Given the description of an element on the screen output the (x, y) to click on. 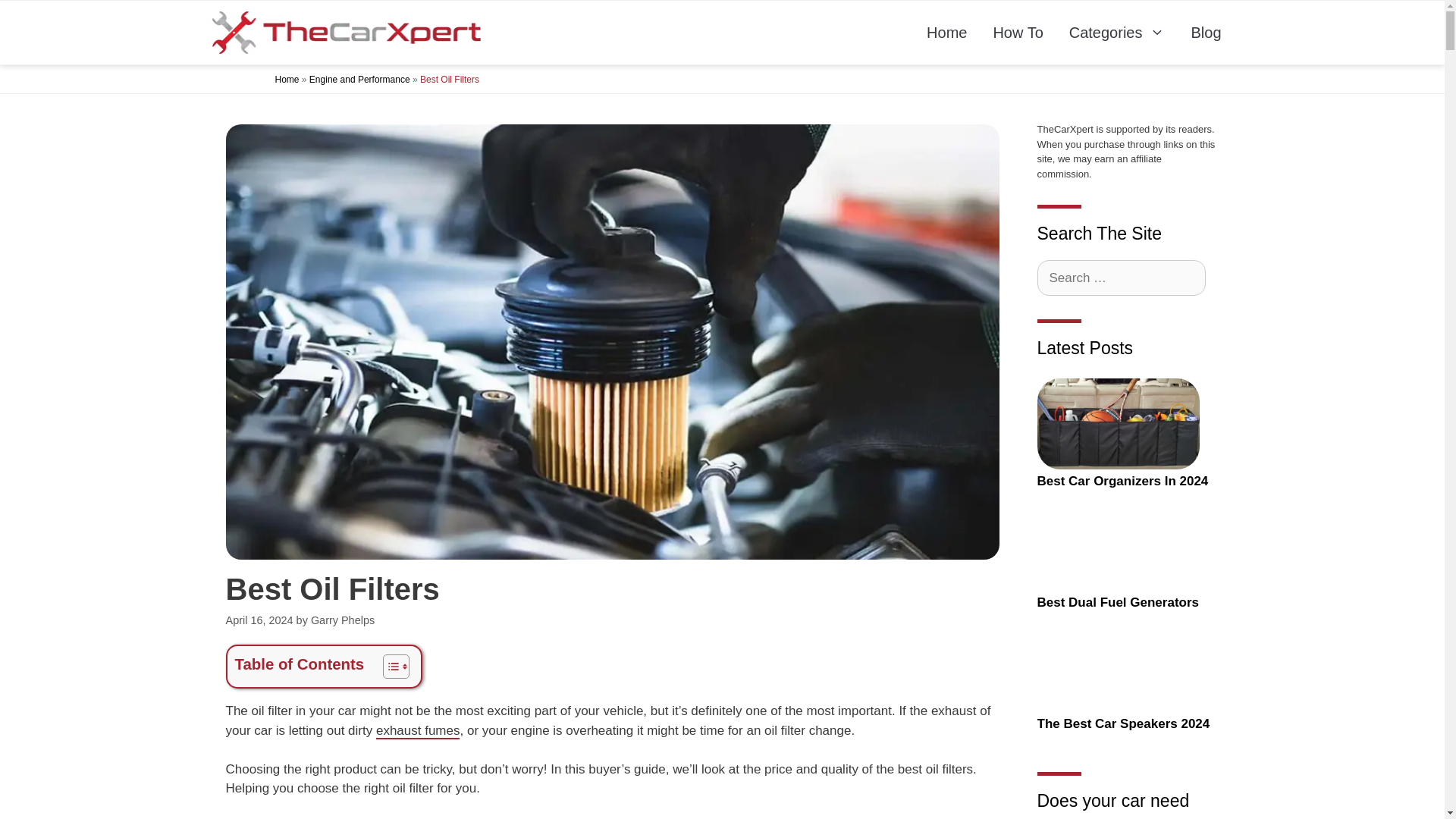
Blog (1205, 32)
Home (946, 32)
How To (1017, 32)
Categories (1117, 32)
Home (286, 79)
Engine and Performance (359, 79)
